Given the description of an element on the screen output the (x, y) to click on. 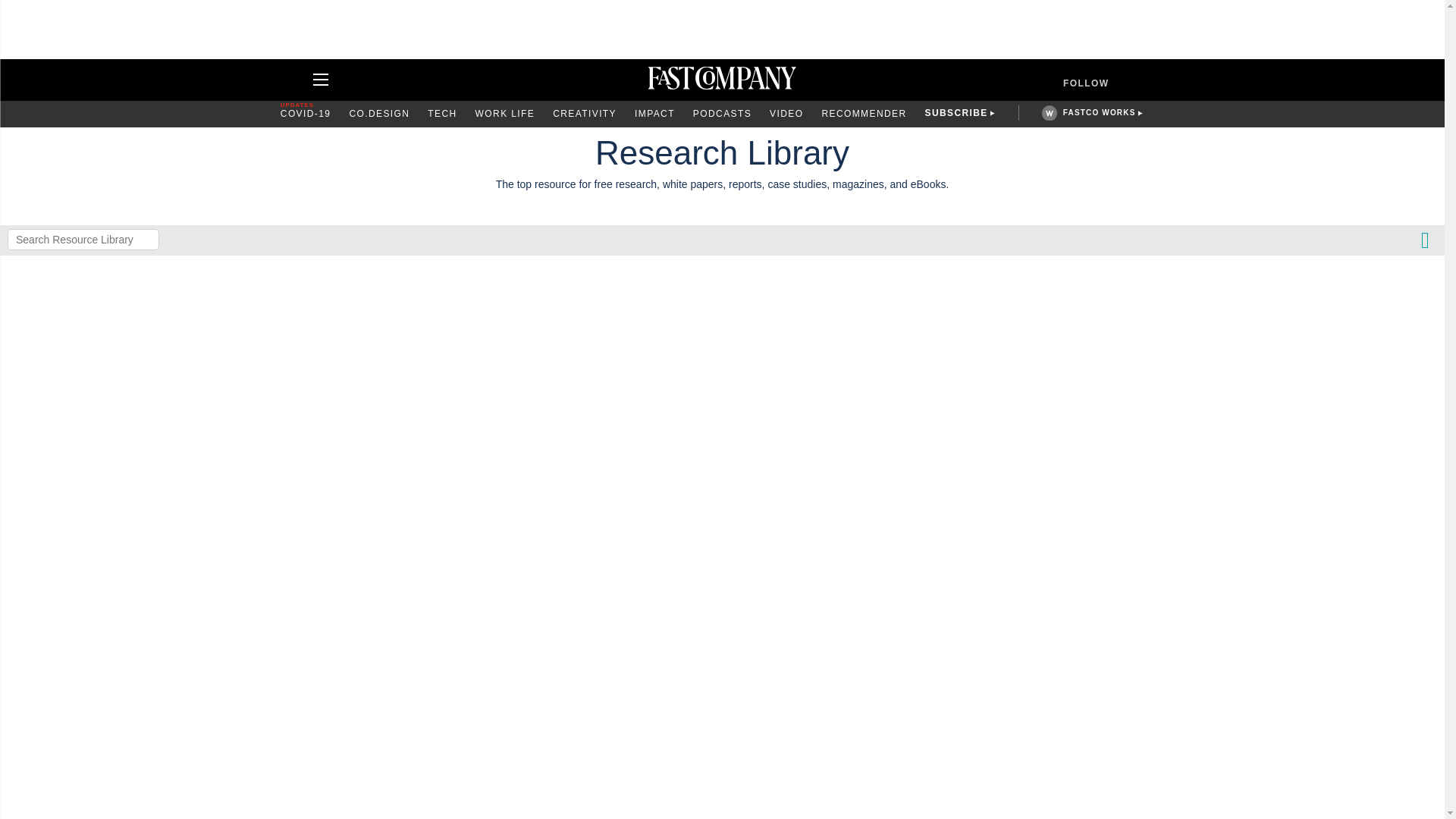
Tech (442, 113)
Work Life (505, 113)
Recommender (863, 113)
Impact (654, 113)
IMPACT (654, 113)
Video (786, 113)
CO.DESIGN (379, 113)
PODCASTS (722, 113)
Podcasts (722, 113)
Co.Design (379, 113)
WORK LIFE (505, 113)
SUBSCRIBE (956, 113)
COVID-19 (306, 113)
VIDEO (786, 113)
RECOMMENDER (863, 113)
